Given the description of an element on the screen output the (x, y) to click on. 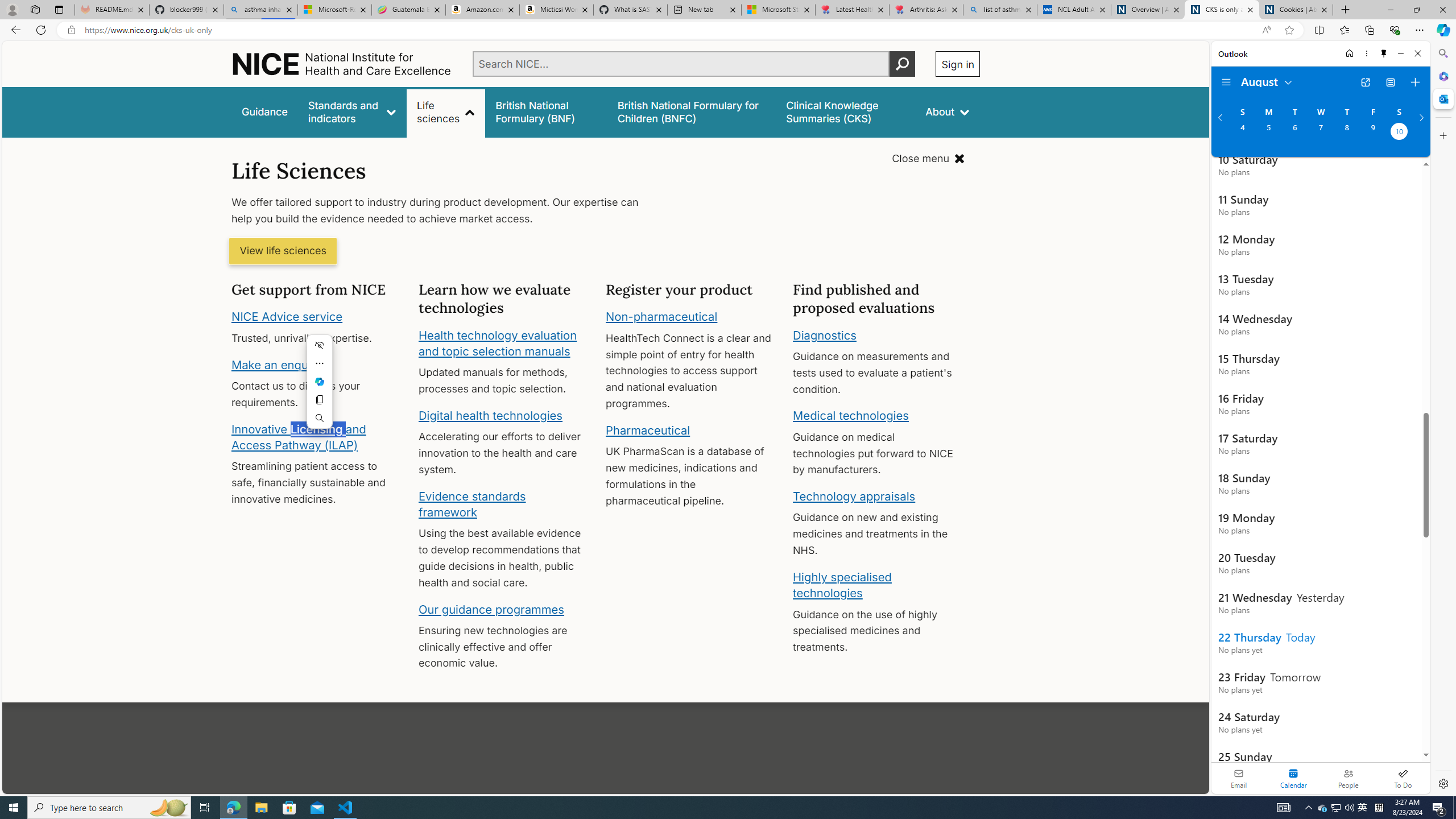
Guidance (264, 111)
Mini menu on text selection (319, 388)
Make an enquiry (276, 364)
August (1267, 80)
Mini menu on text selection (319, 381)
Sunday, August 4, 2024.  (1242, 132)
